Given the description of an element on the screen output the (x, y) to click on. 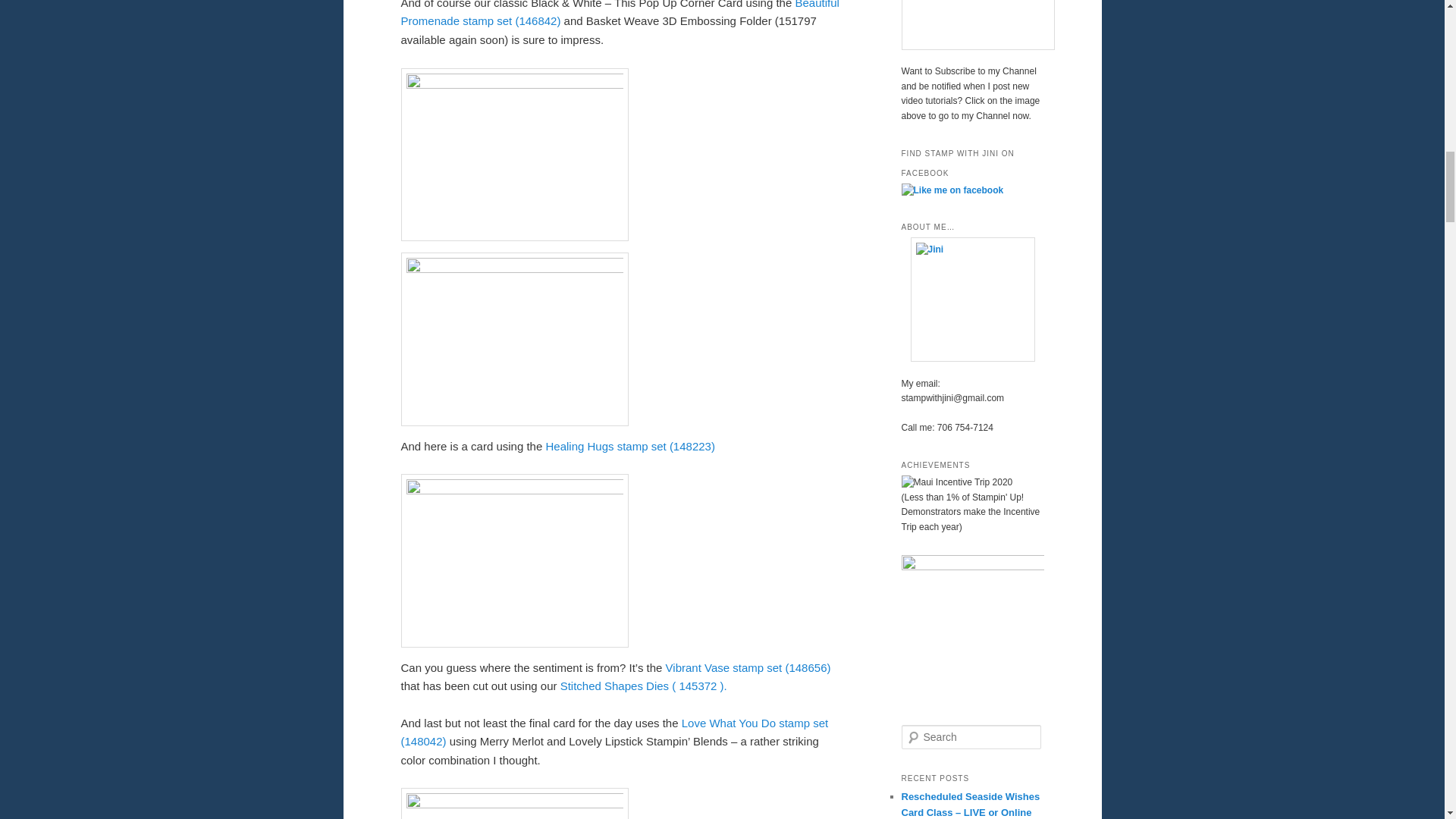
Find Stamp with Jini on facebook (952, 190)
Love What You Do stamp set (754, 722)
